Given the description of an element on the screen output the (x, y) to click on. 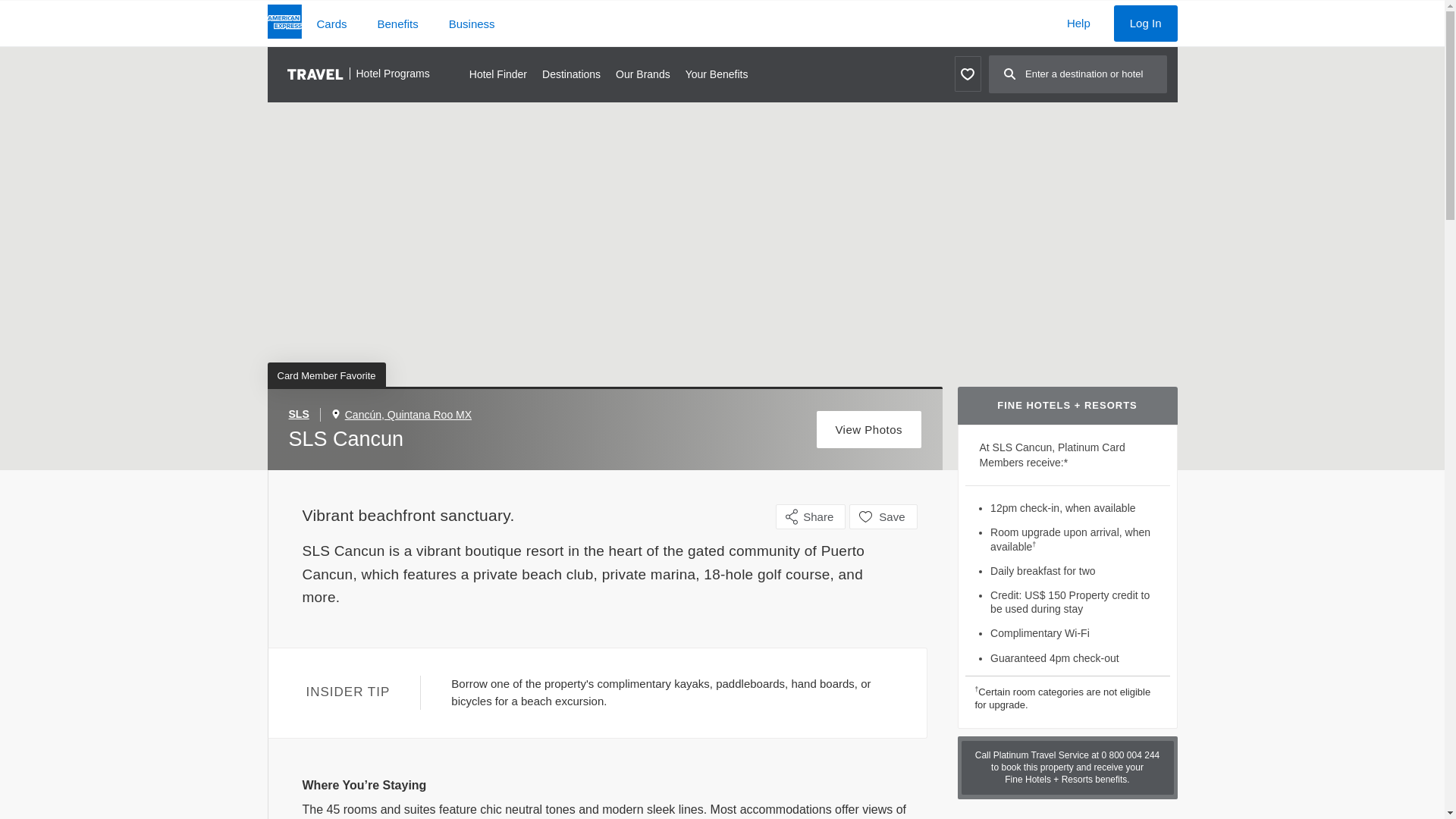
Log In (1145, 22)
Help (1078, 23)
